Given the description of an element on the screen output the (x, y) to click on. 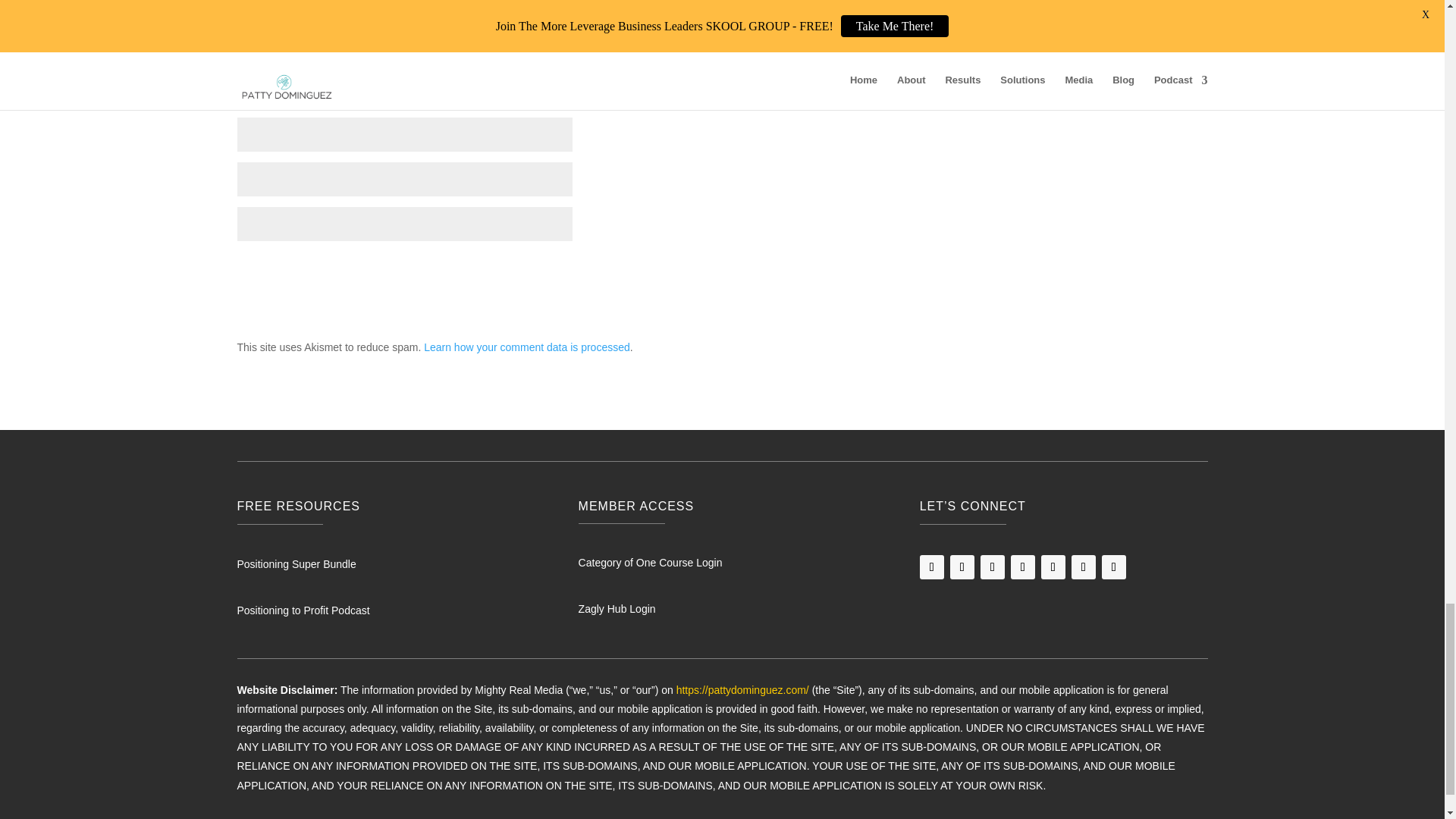
Follow on LinkedIn (962, 567)
Follow on Youtube (1113, 567)
Follow on TikTok (1022, 567)
Follow on Pinterest (1083, 567)
Follow on Facebook (931, 567)
Follow on Instagram (991, 567)
Learn how your comment data is processed (526, 346)
Follow on X (1053, 567)
Submit Comment (876, 270)
